Given the description of an element on the screen output the (x, y) to click on. 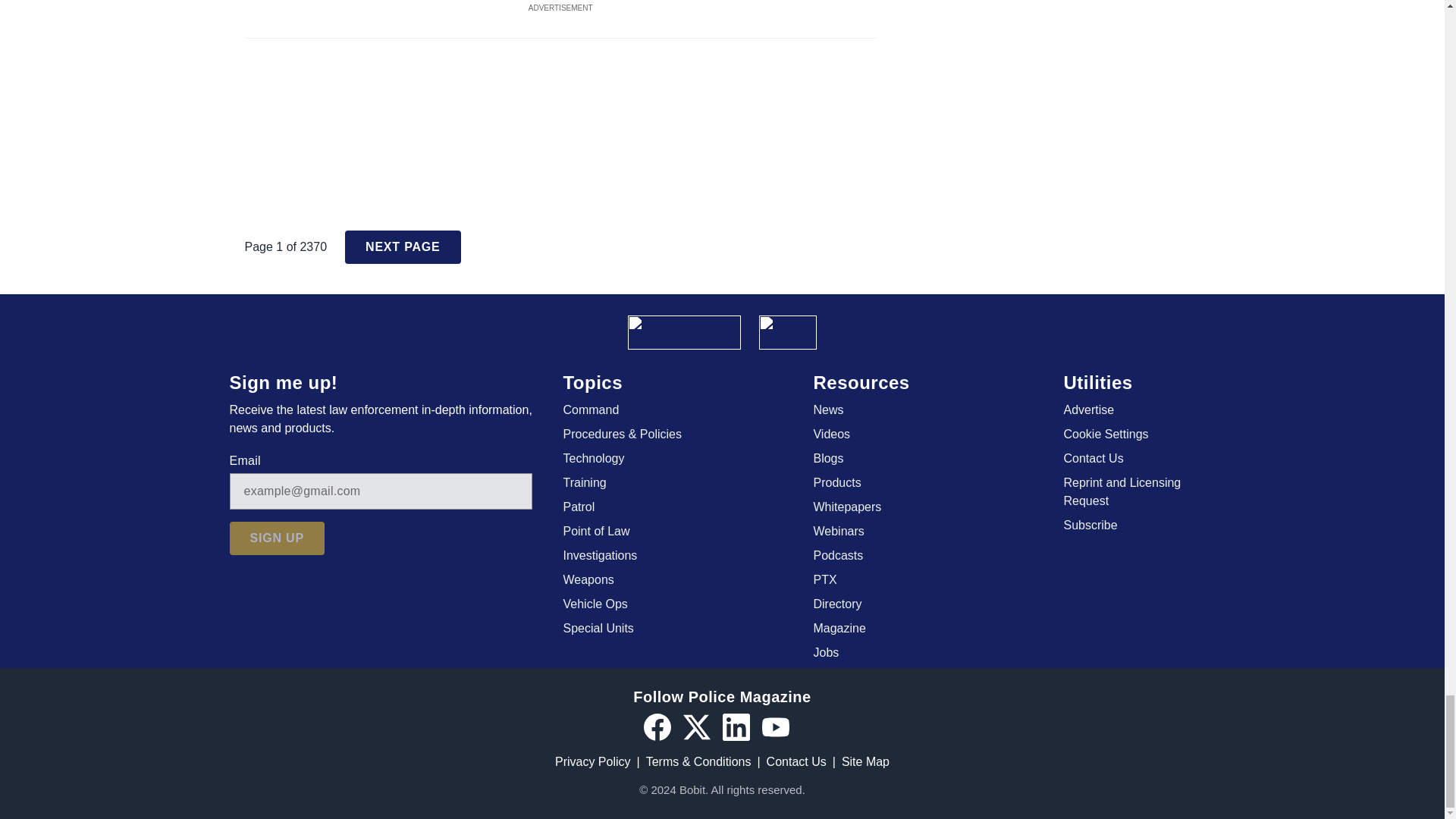
LinkedIn icon (735, 727)
Twitter X icon (696, 727)
Facebook icon (656, 727)
YouTube icon (775, 727)
